Given the description of an element on the screen output the (x, y) to click on. 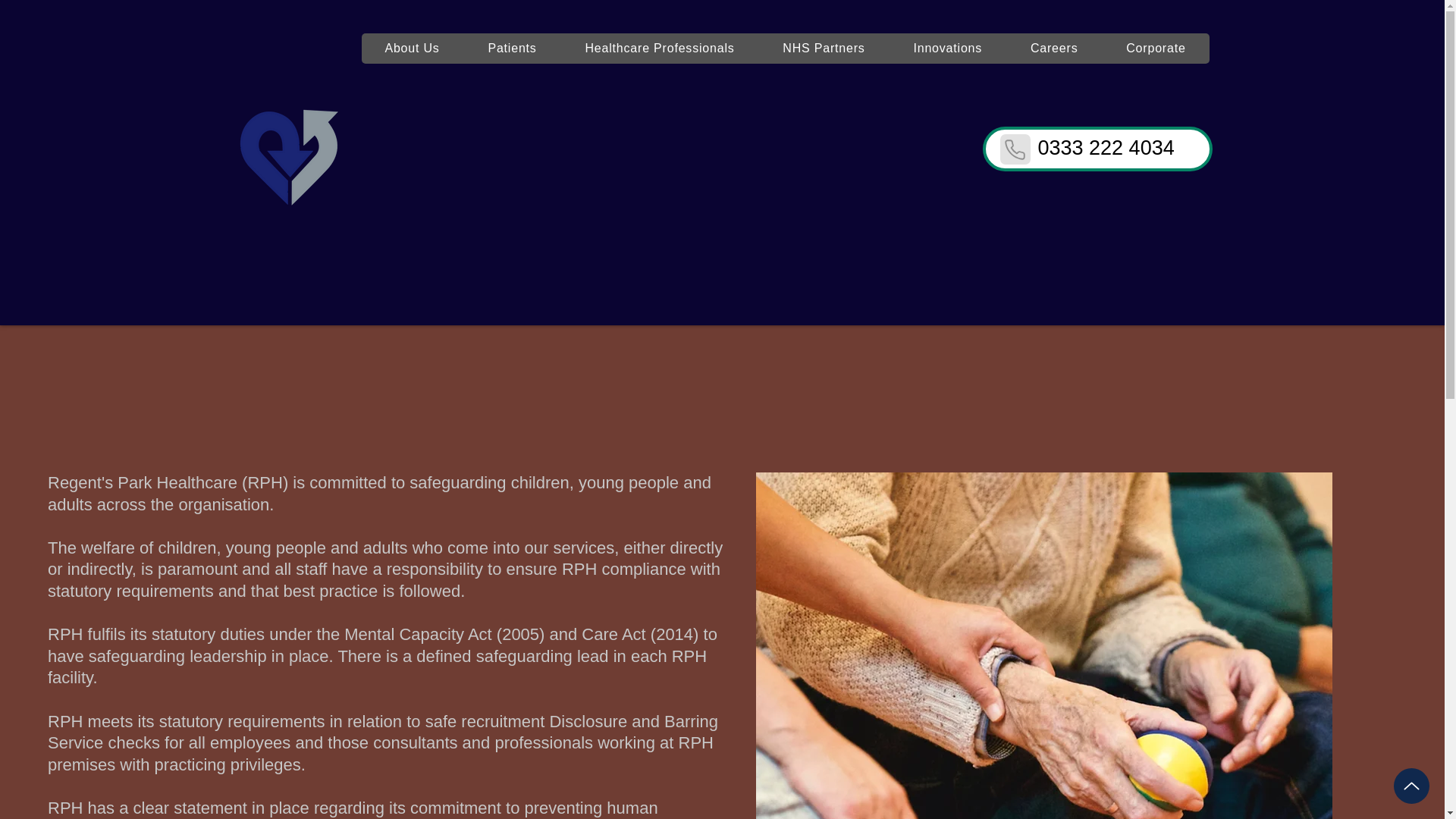
Healthcare Professionals (660, 48)
Patients (512, 48)
Innovations (947, 48)
NHS Partners (823, 48)
About Us (412, 48)
Corporate (1155, 48)
Careers (1053, 48)
